Given the description of an element on the screen output the (x, y) to click on. 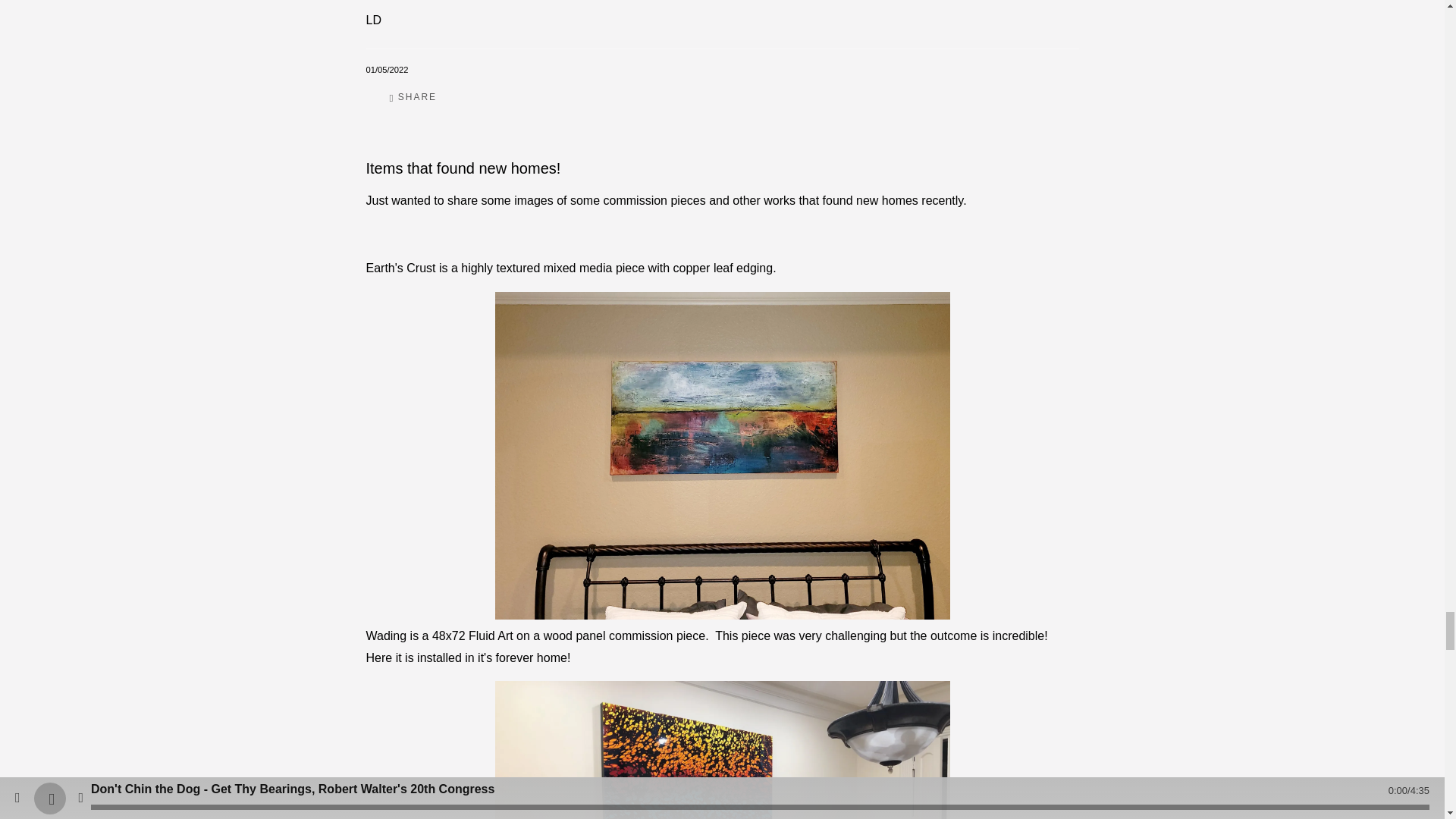
January 05, 2022 17:17 (386, 69)
